Given the description of an element on the screen output the (x, y) to click on. 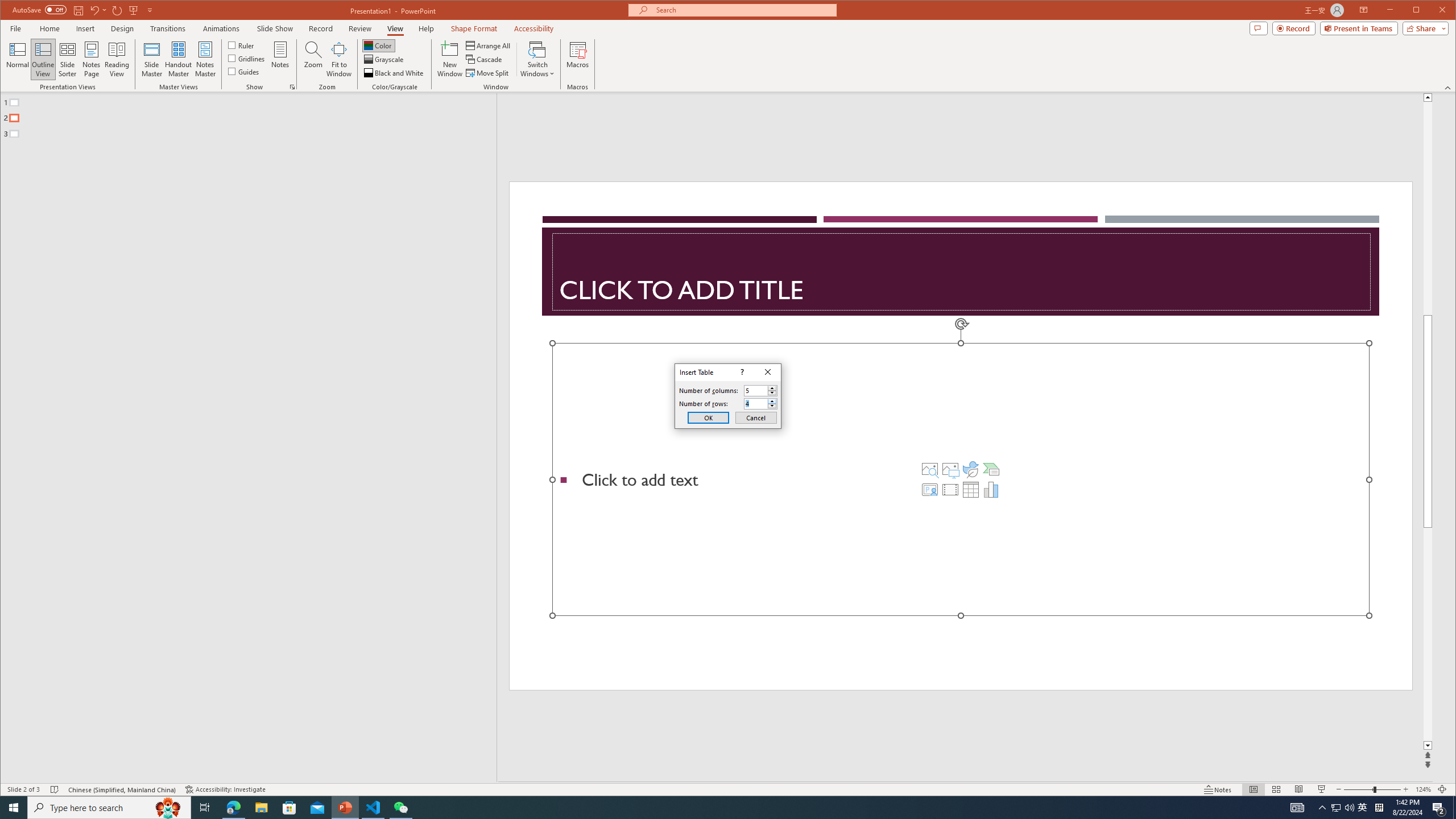
Notes (279, 59)
Number of rows (755, 403)
Insert an Icon (970, 469)
Insert Table (970, 489)
